Given the description of an element on the screen output the (x, y) to click on. 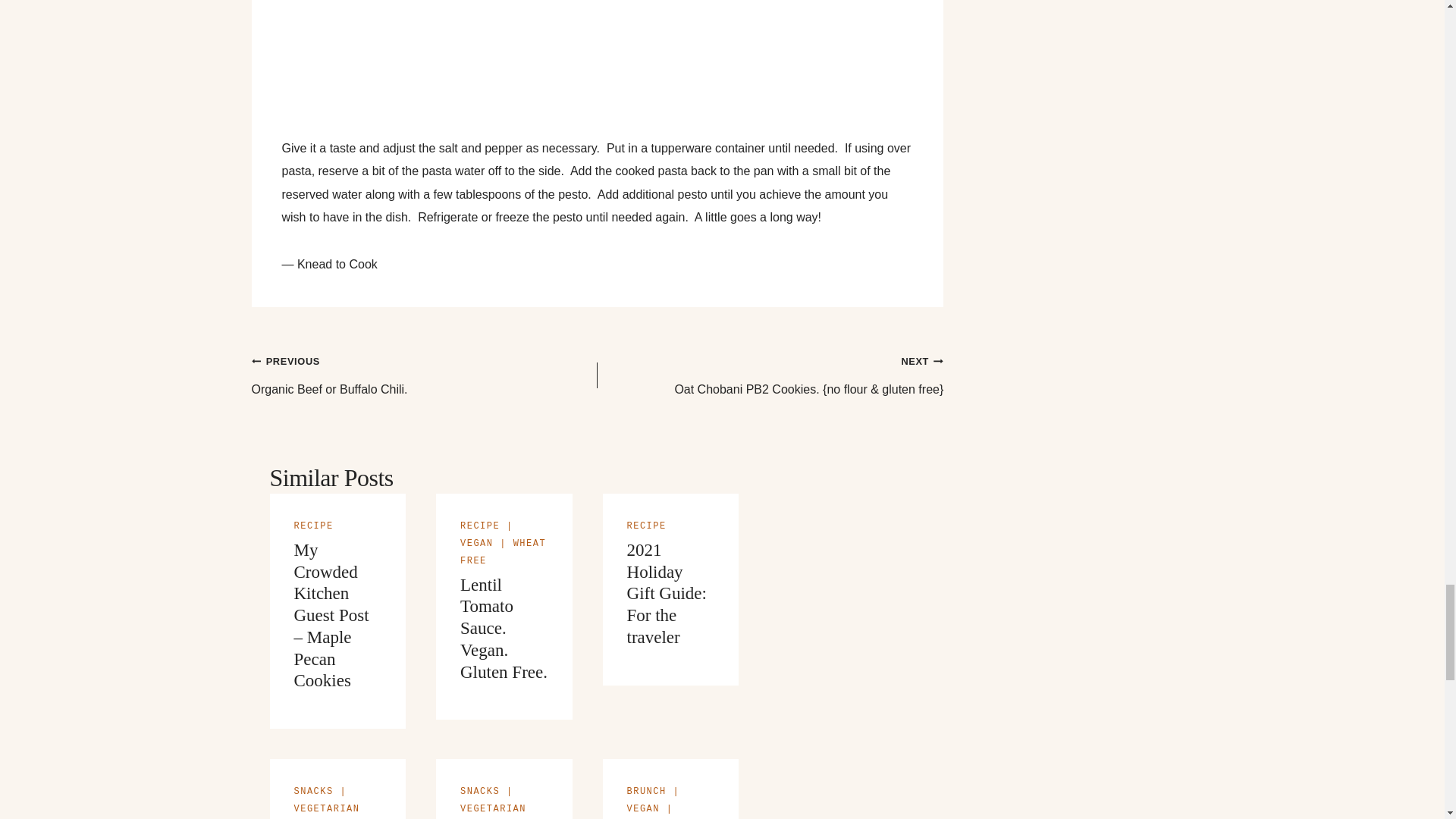
SNACKS (479, 791)
VEGETARIAN (492, 808)
VEGETARIAN (423, 375)
RECIPE (326, 808)
SNACKS (313, 525)
RECIPE (313, 791)
RECIPE (646, 525)
VEGAN (479, 525)
WHEAT FREE (476, 543)
